Given the description of an element on the screen output the (x, y) to click on. 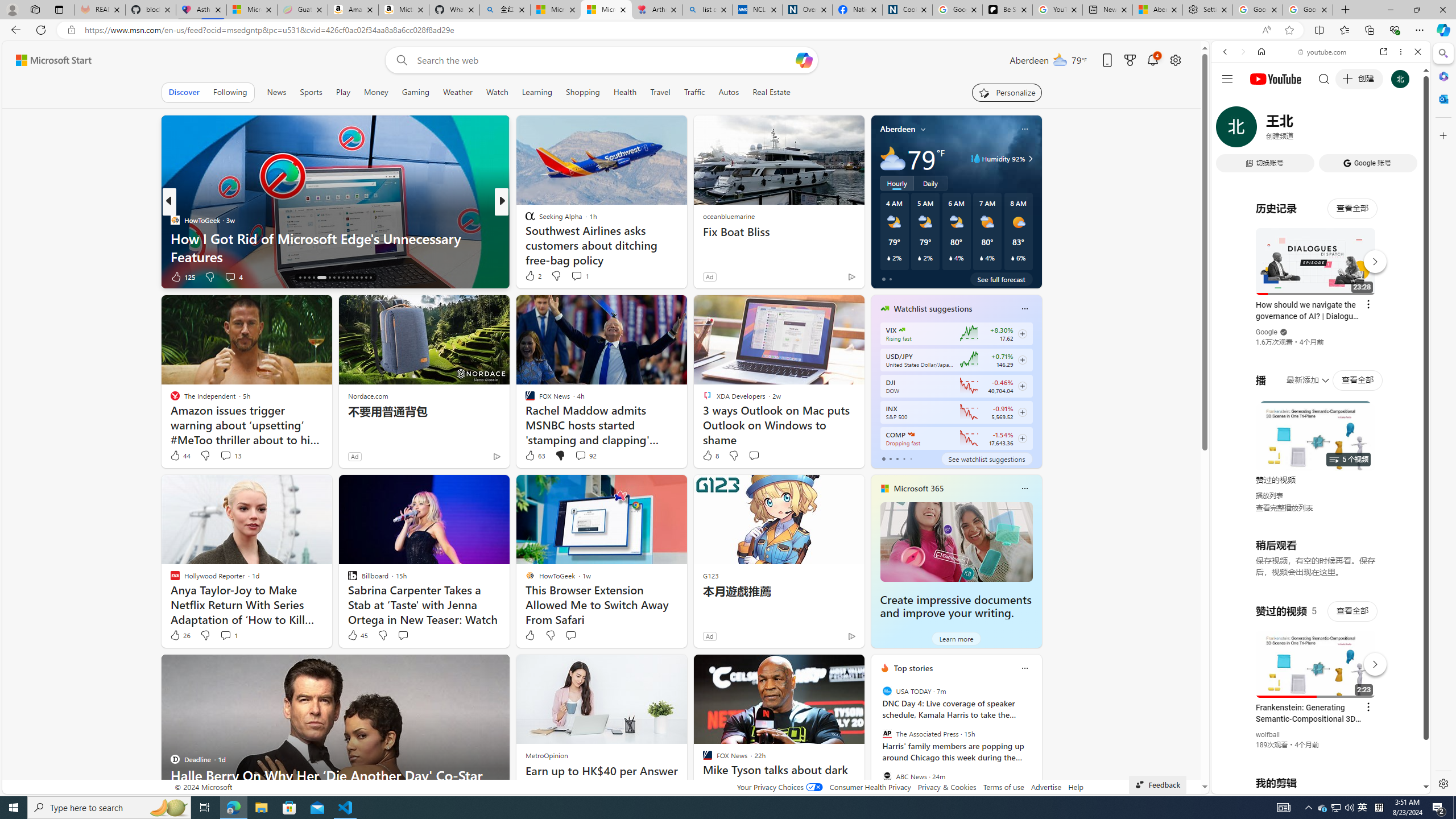
51 Like (530, 276)
